Given the description of an element on the screen output the (x, y) to click on. 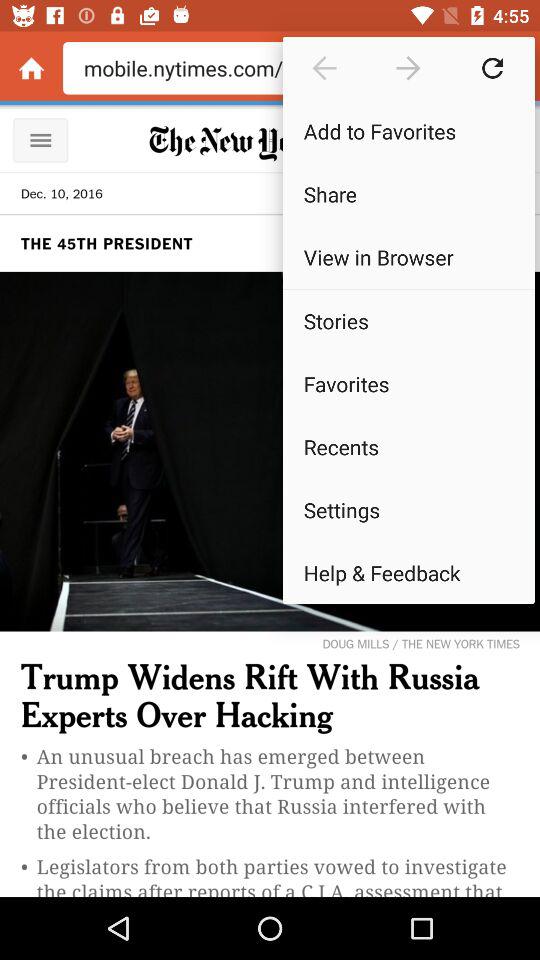
jump until the stories item (408, 320)
